Given the description of an element on the screen output the (x, y) to click on. 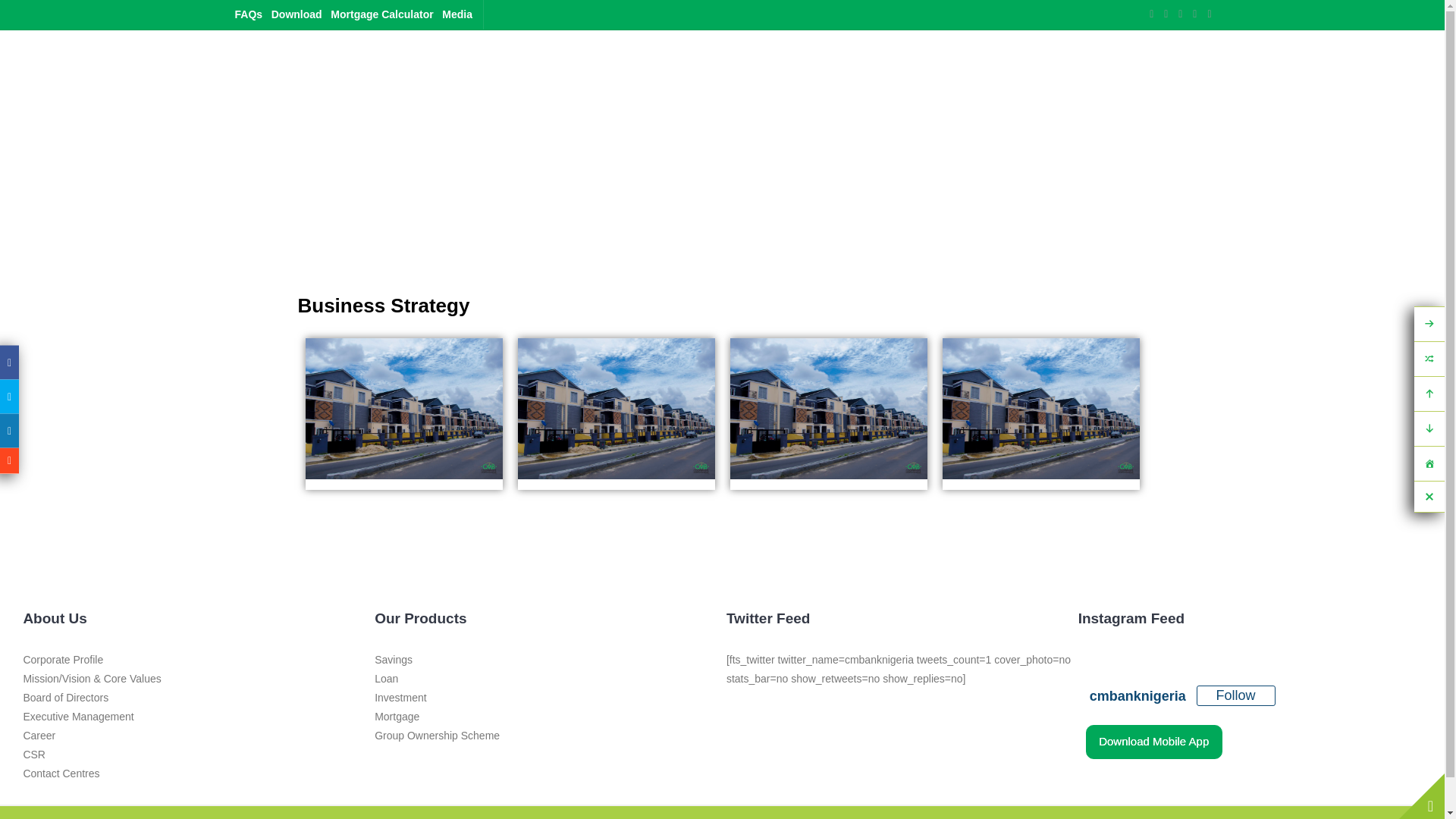
Download (295, 14)
Mortgage Calculator (381, 14)
FAQs (248, 14)
Media (456, 14)
